Given the description of an element on the screen output the (x, y) to click on. 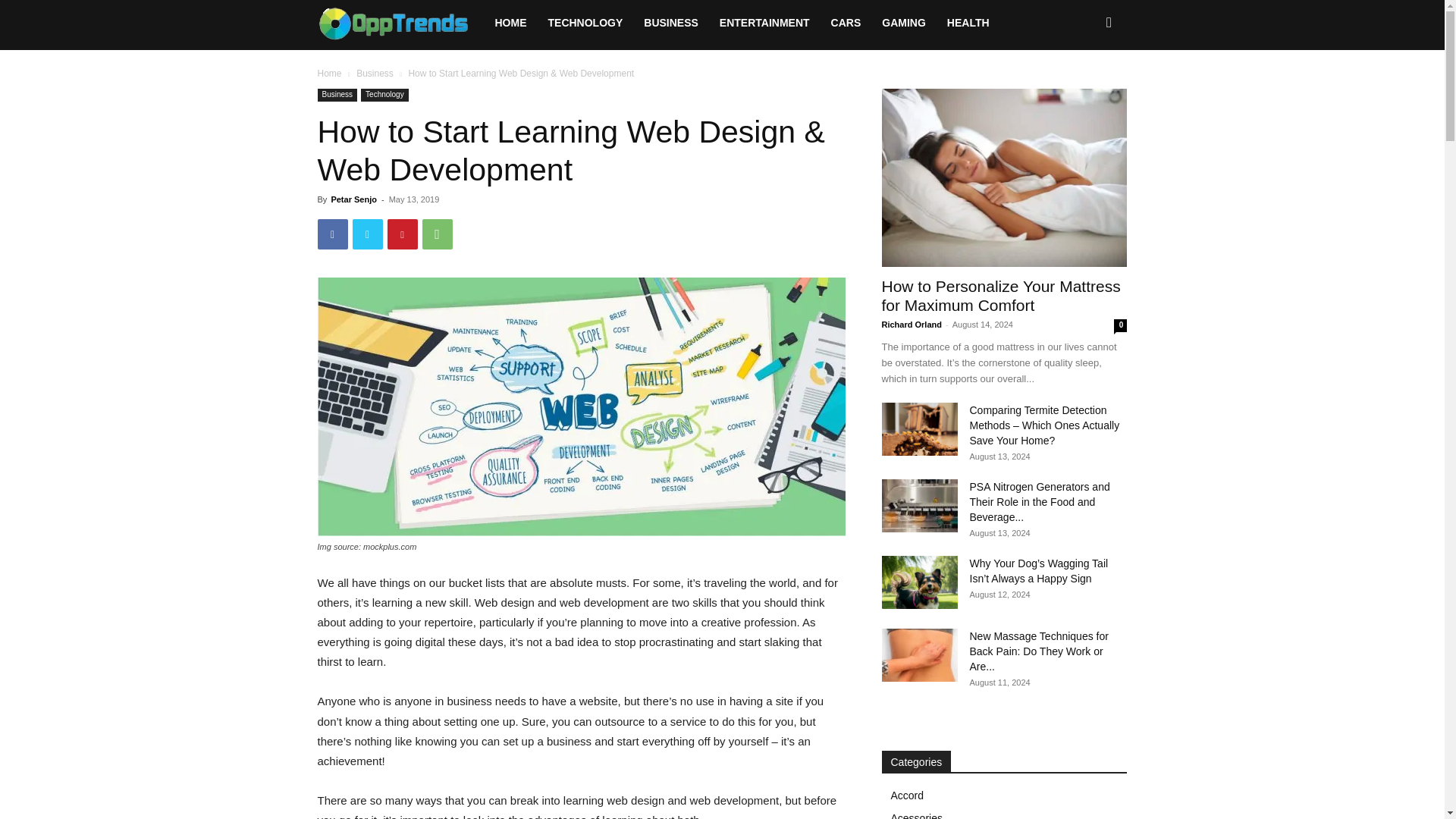
Business (336, 94)
Facebook (332, 234)
Twitter (366, 234)
HOME (510, 22)
GAMING (903, 22)
HEALTH (968, 22)
BUSINESS (671, 22)
Pinterest (401, 234)
View all posts in Business (374, 72)
Business (374, 72)
